Given the description of an element on the screen output the (x, y) to click on. 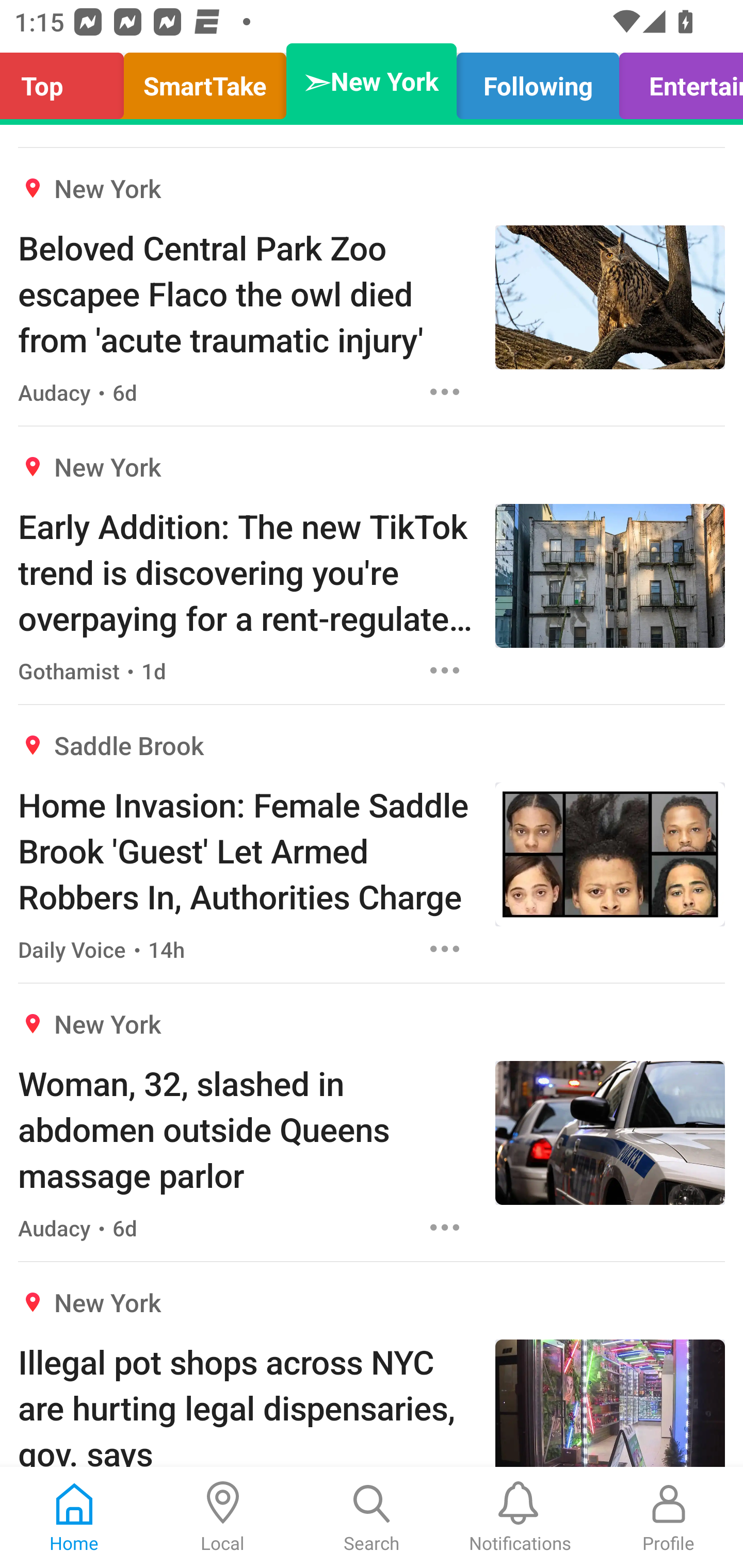
Top (67, 81)
SmartTake (204, 81)
➣New York (371, 81)
Following (537, 81)
Options (444, 391)
Options (444, 670)
Options (444, 948)
Options (444, 1227)
Local (222, 1517)
Search (371, 1517)
Notifications (519, 1517)
Profile (668, 1517)
